Given the description of an element on the screen output the (x, y) to click on. 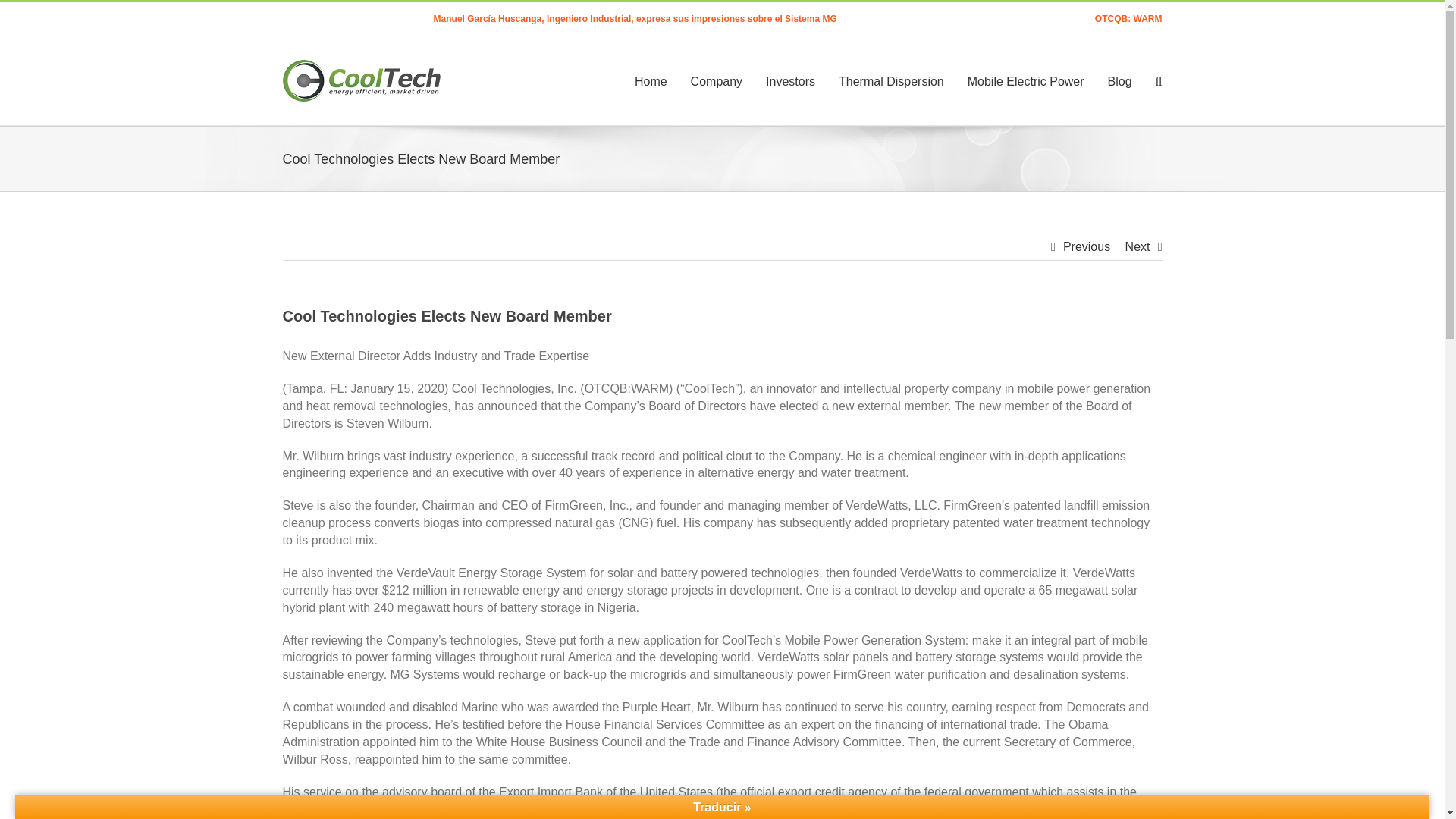
Home (650, 80)
Investors (790, 80)
Thermal Dispersion (890, 80)
Blog (1120, 80)
Mobile Electric Power (1026, 80)
Company (716, 80)
OTCQB: WARM (1127, 18)
